Given the description of an element on the screen output the (x, y) to click on. 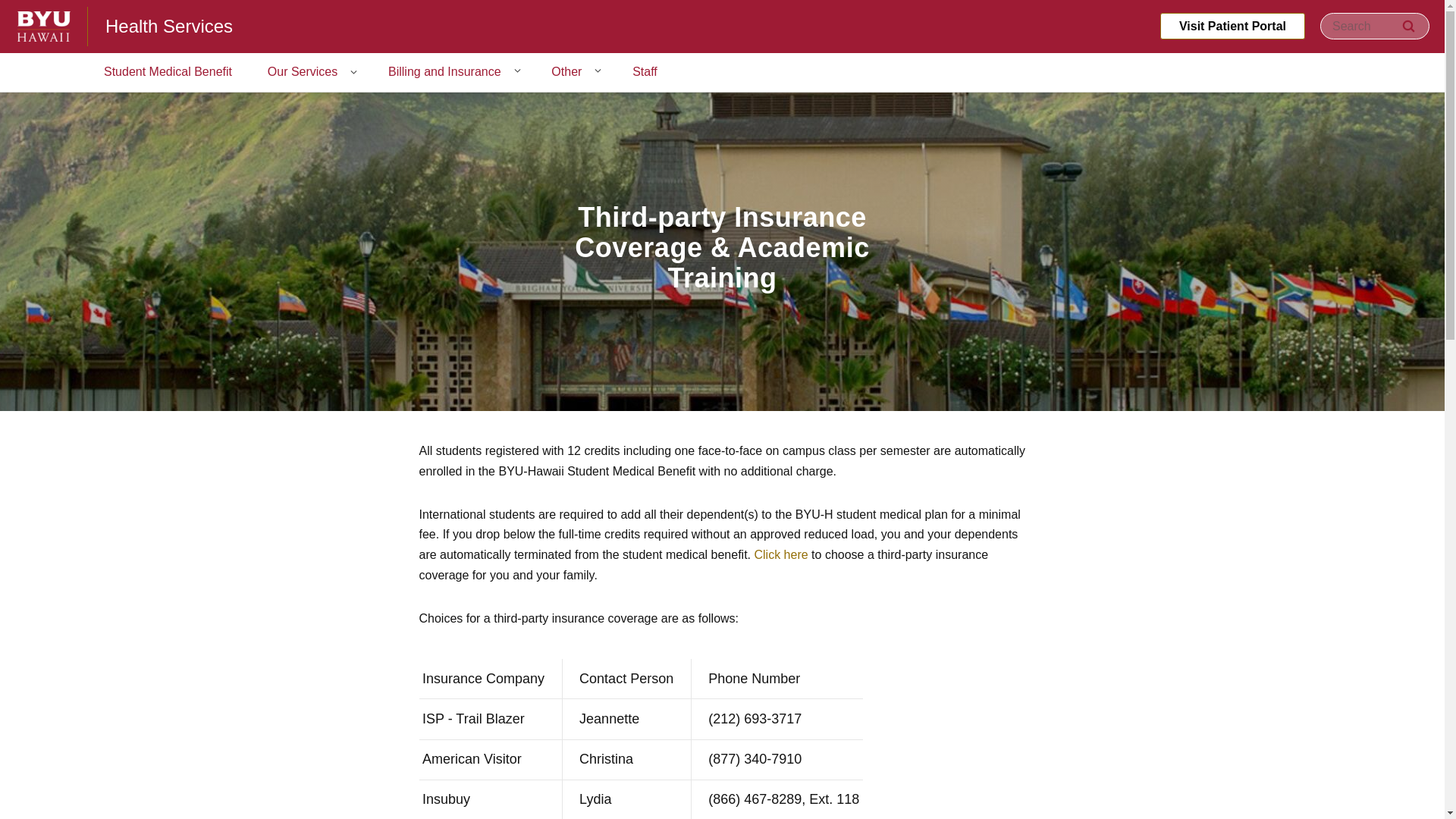
Visit Patient Portal (1232, 26)
Student Medical Benefit (167, 73)
Health Services (168, 25)
Search (1408, 26)
Staff (644, 73)
Our Services (301, 73)
Click here (781, 554)
